Given the description of an element on the screen output the (x, y) to click on. 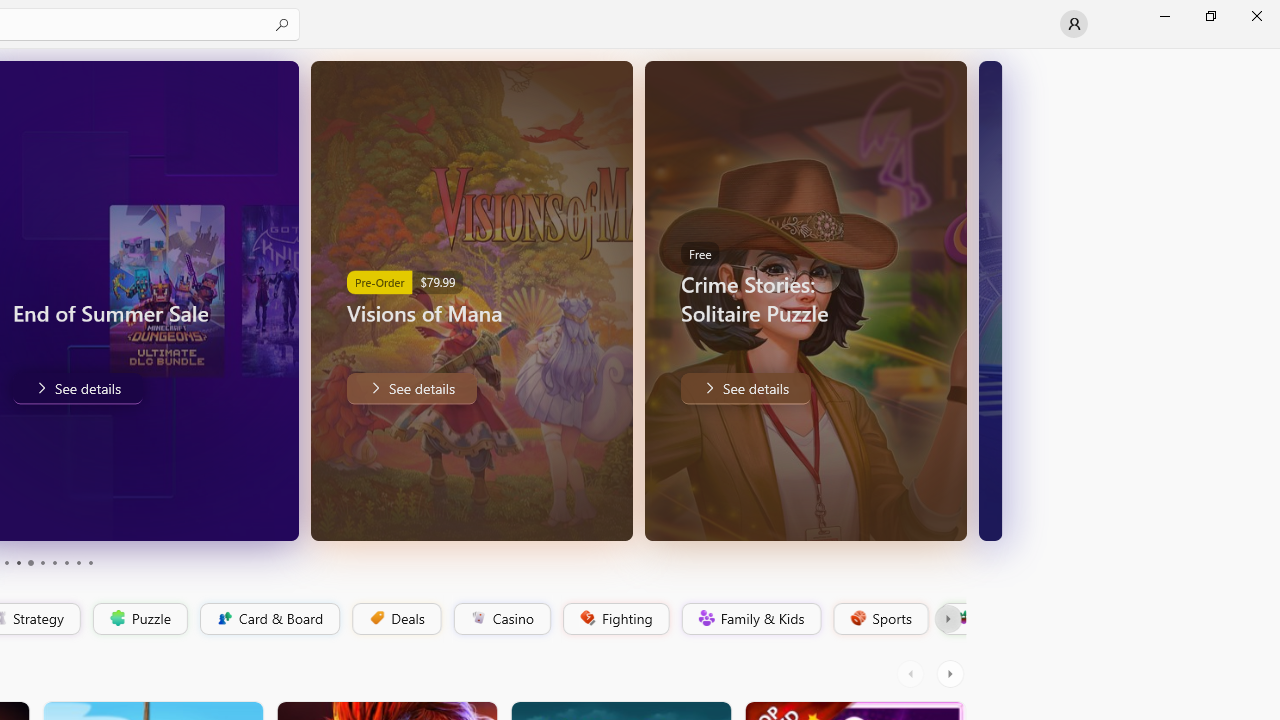
User profile (1073, 24)
Casino (501, 619)
Deals (395, 619)
Page 7 (54, 562)
Page 3 (5, 562)
Card & Board (268, 619)
Page 6 (41, 562)
End of Summer Sale. Save up to 80%.  . See details (76, 387)
Puzzle (139, 619)
Minimize Microsoft Store (1164, 15)
Sports (879, 619)
Page 5 (29, 562)
Family & Kids (750, 619)
